Given the description of an element on the screen output the (x, y) to click on. 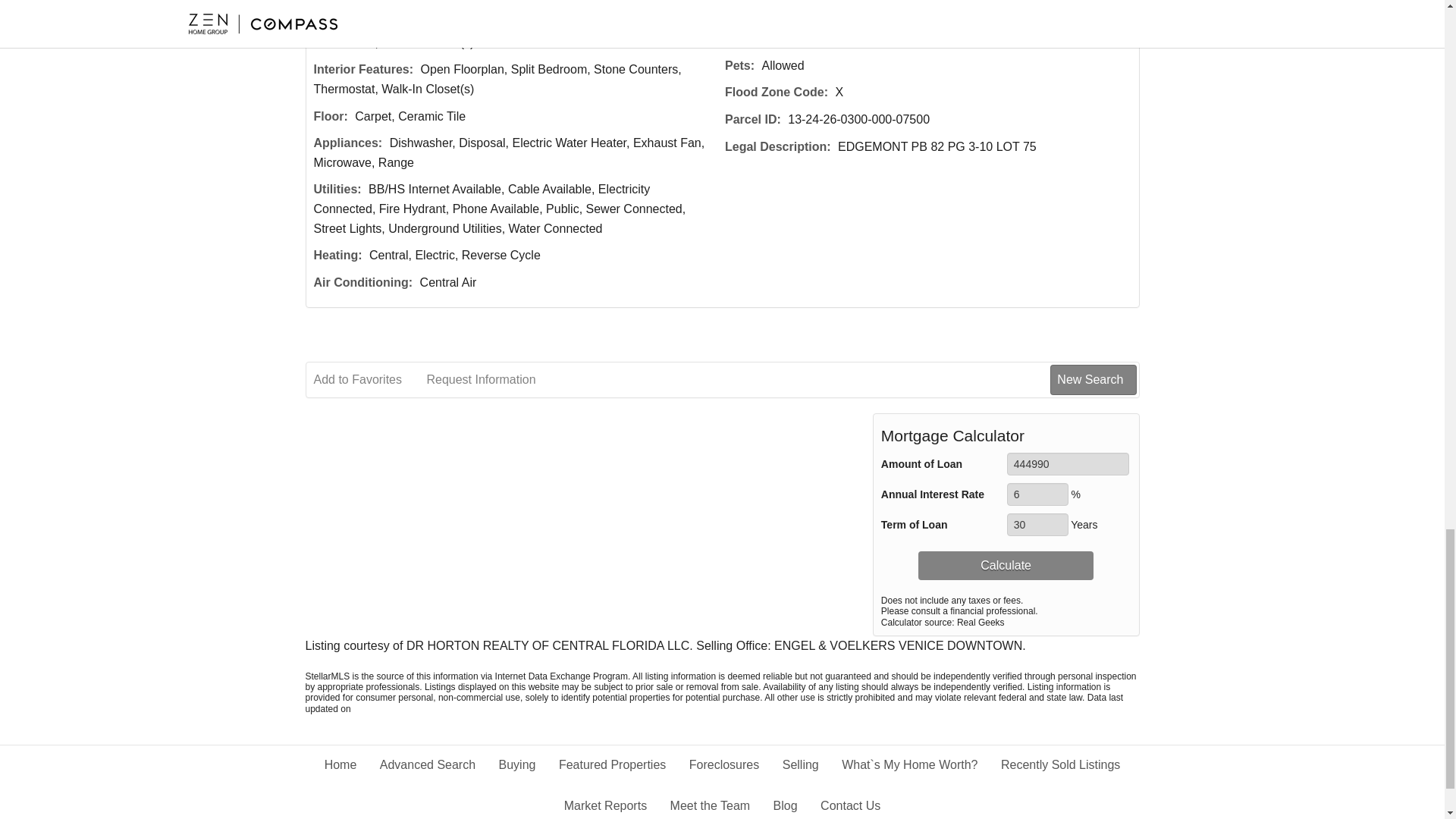
444990 (1068, 463)
6 (1037, 494)
30 (1037, 524)
